Given the description of an element on the screen output the (x, y) to click on. 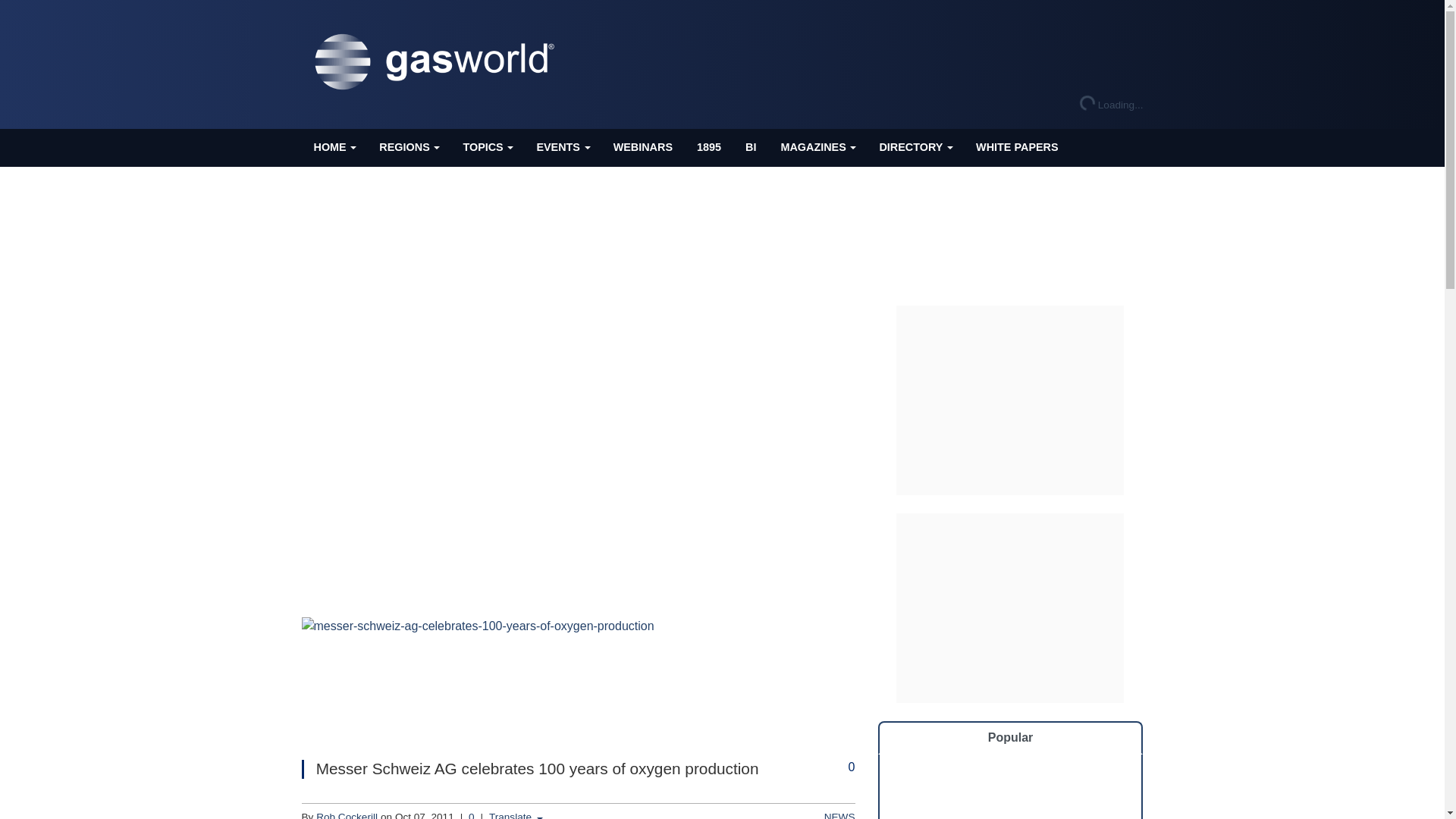
HOME (334, 146)
Regions (407, 146)
Home (334, 146)
REGIONS (407, 146)
gasworld (438, 62)
Topics (486, 146)
TOPICS (486, 146)
